Given the description of an element on the screen output the (x, y) to click on. 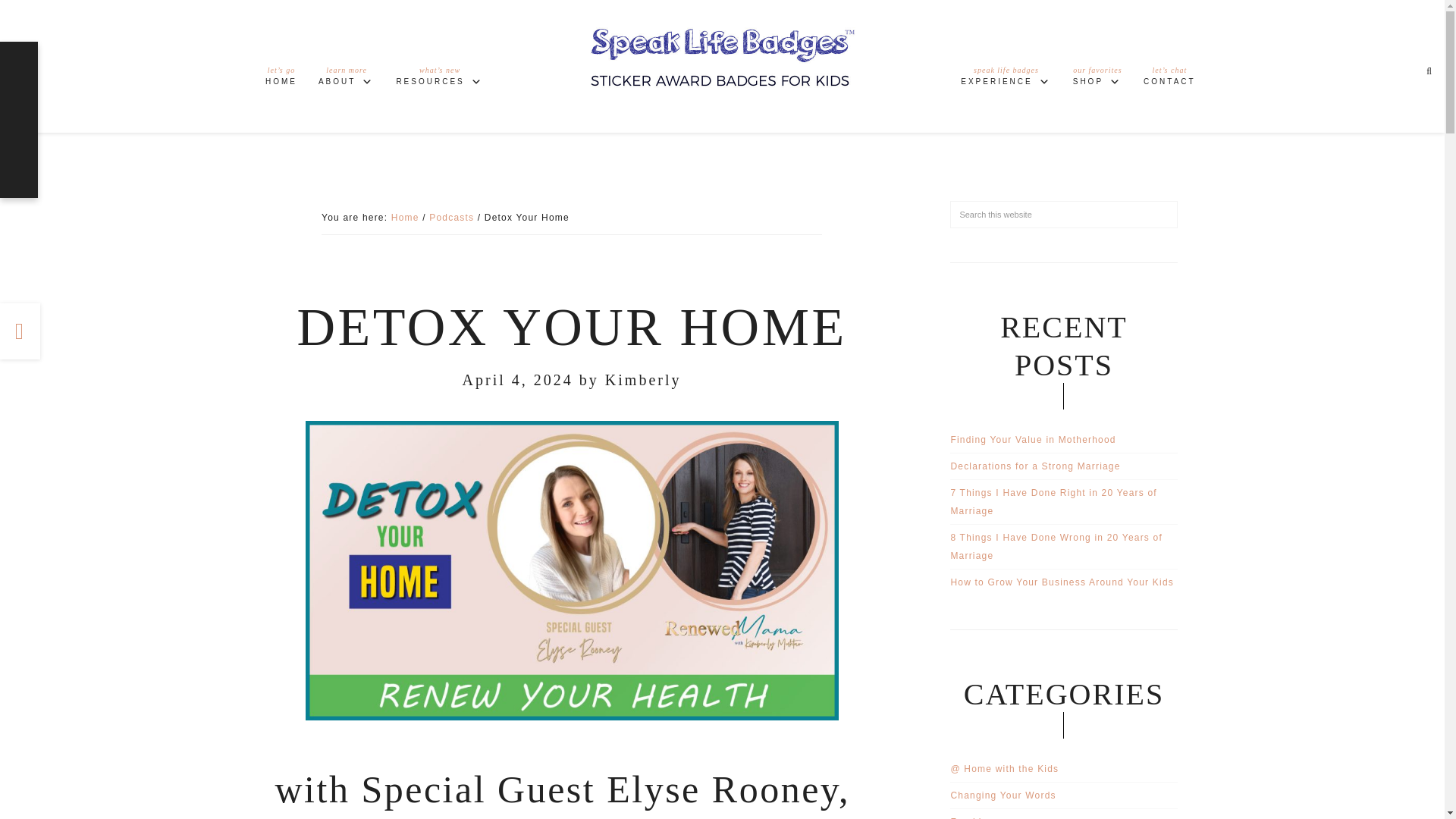
Home (405, 217)
Search (346, 78)
Search (1005, 78)
Kimberly (451, 217)
Speak Life Badges (1097, 78)
